Given the description of an element on the screen output the (x, y) to click on. 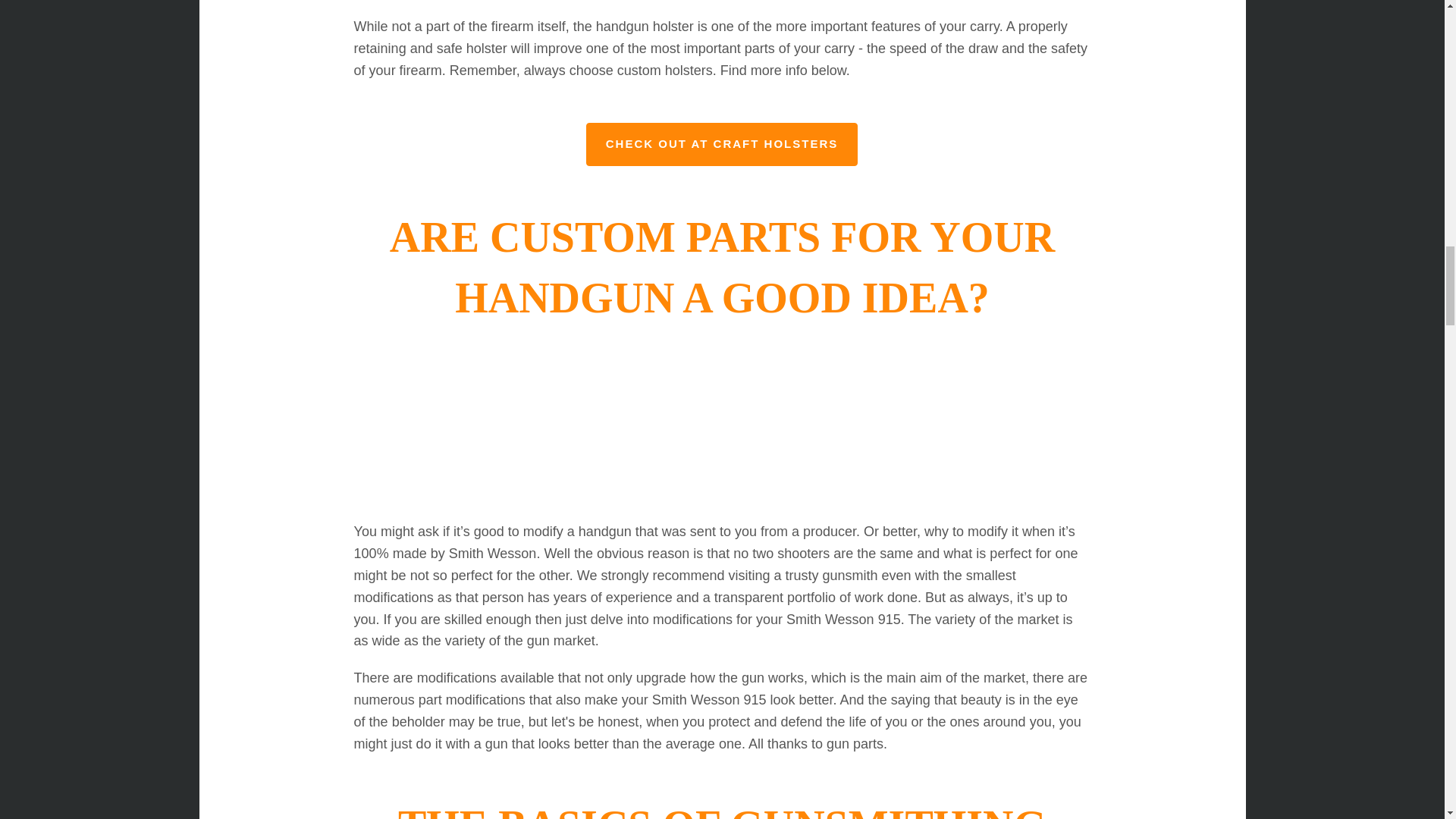
CHECK OUT AT CRAFT HOLSTERS (722, 143)
